Given the description of an element on the screen output the (x, y) to click on. 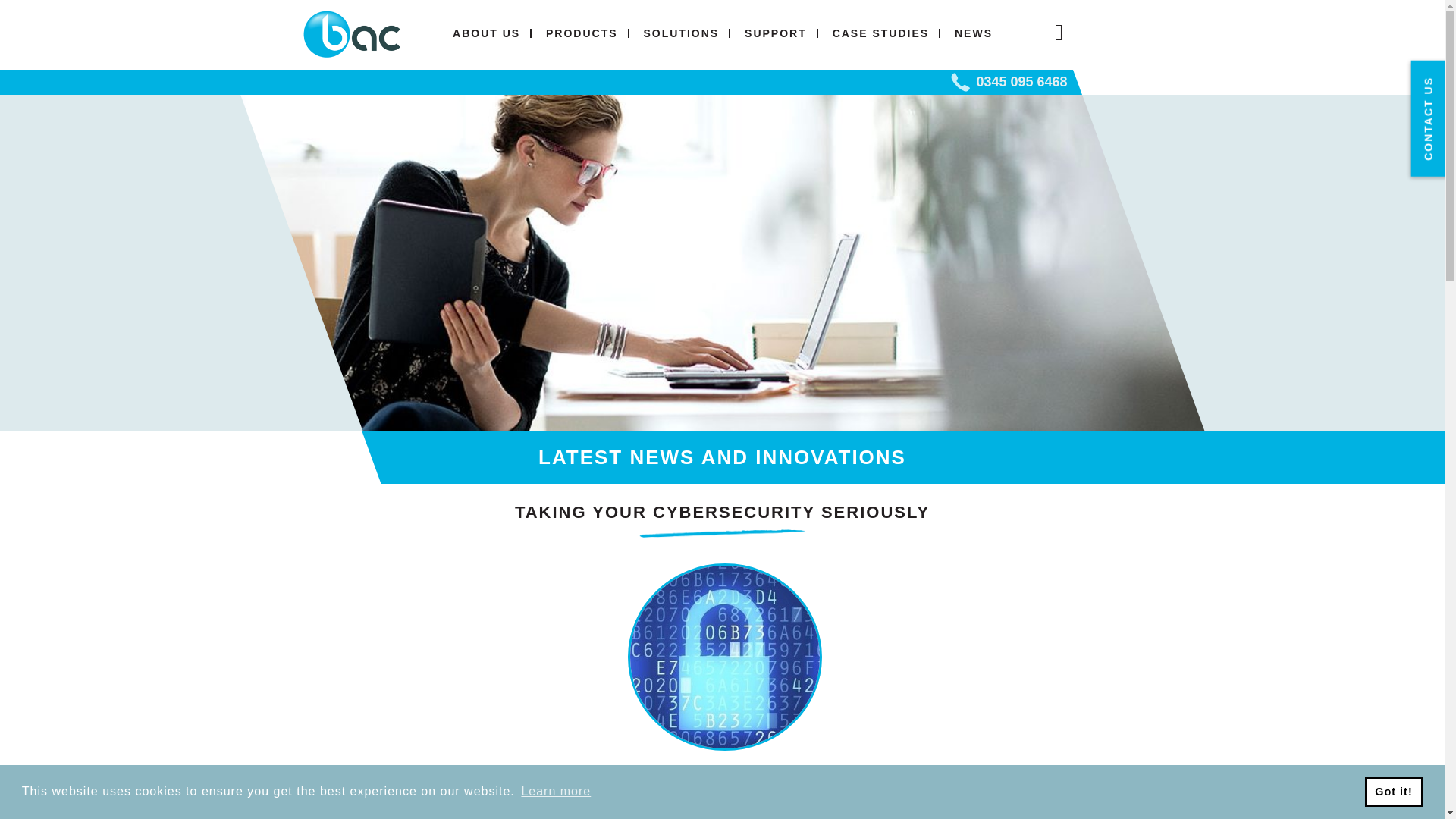
SUPPORT (775, 33)
NEWS (973, 33)
Got it! (1393, 791)
CASE STUDIES (880, 33)
ABOUT US (486, 33)
SOLUTIONS (680, 33)
Learn more (555, 791)
PRODUCTS (581, 33)
